Given the description of an element on the screen output the (x, y) to click on. 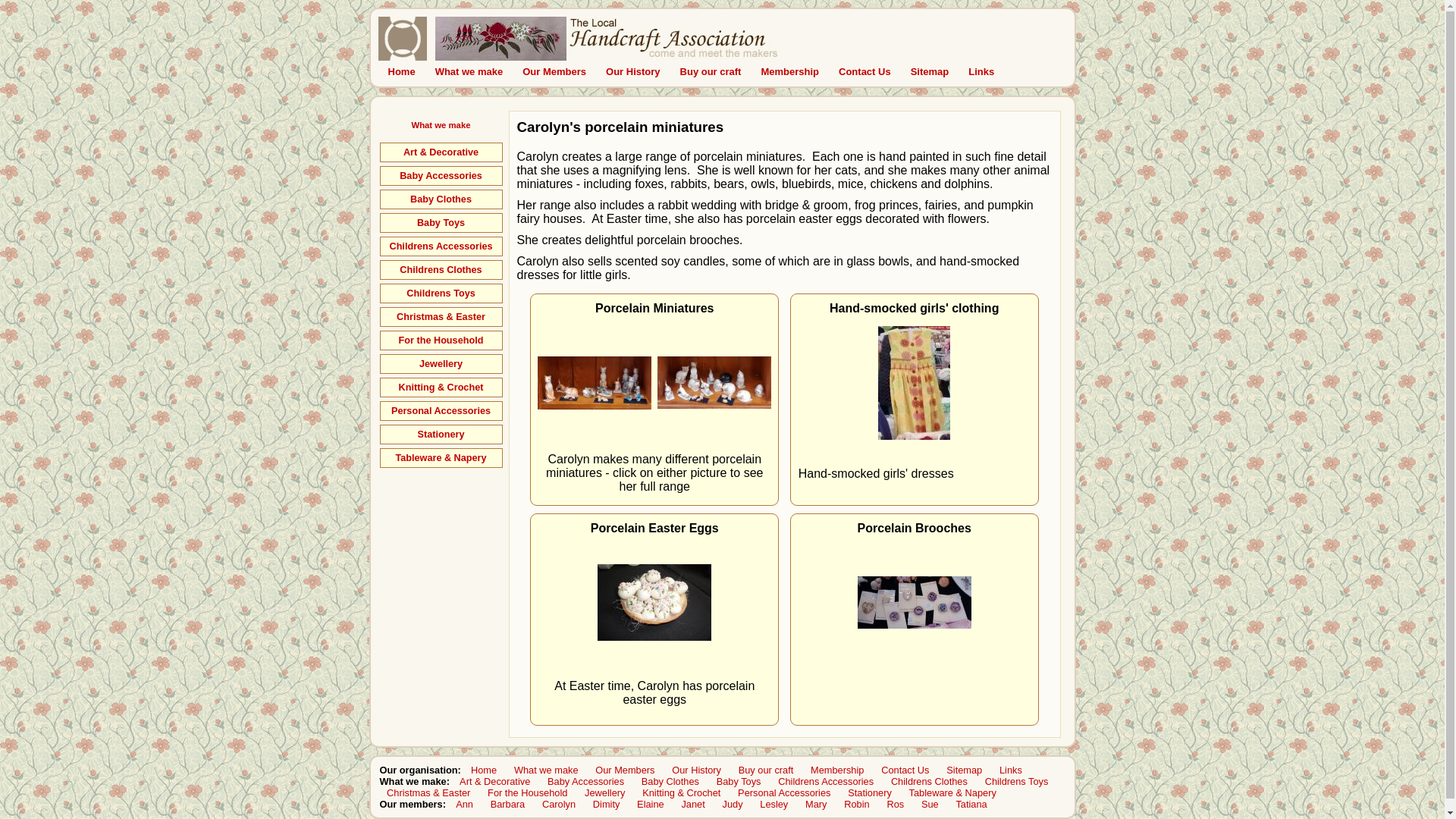
Jewellery Element type: text (605, 792)
Janet Element type: text (693, 803)
Tatiana Element type: text (971, 803)
Ann Element type: text (464, 803)
Childrens Toys Element type: text (440, 293)
Dimity Element type: text (606, 803)
For the Household Element type: text (527, 792)
Baby Clothes Element type: text (440, 199)
Sue Element type: text (929, 803)
Art & Decorative Element type: text (440, 152)
Membership Element type: text (837, 769)
Baby Toys Element type: text (440, 222)
Links Element type: text (981, 70)
What we make Element type: text (469, 70)
Our History Element type: text (696, 769)
Links Element type: text (1010, 769)
Home Element type: text (483, 769)
Sitemap Element type: text (964, 769)
Baby Toys Element type: text (738, 781)
Childrens Clothes Element type: text (928, 781)
Personal Accessories Element type: text (440, 410)
Knitting & Crochet Element type: text (440, 387)
Contact Us Element type: text (864, 70)
Childrens Toys Element type: text (1016, 781)
Home Element type: text (400, 70)
Ros Element type: text (895, 803)
Our Members Element type: text (554, 70)
Mary Element type: text (815, 803)
Baby Clothes Element type: text (669, 781)
What we make Element type: text (441, 124)
Baby Accessories Element type: text (440, 175)
Art & Decorative Element type: text (494, 781)
Membership Element type: text (789, 70)
Knitting & Crochet Element type: text (681, 792)
Christmas & Easter Element type: text (427, 792)
Childrens Accessories Element type: text (440, 246)
Tableware & Napery Element type: text (440, 457)
Christmas & Easter Element type: text (440, 316)
Buy our craft Element type: text (710, 70)
Stationery Element type: text (869, 792)
Childrens Accessories Element type: text (826, 781)
Porcelain Easter Eggs Element type: hover (654, 601)
Robin Element type: text (857, 803)
Tableware & Napery Element type: text (952, 792)
Lesley Element type: text (774, 803)
Jewellery Element type: text (440, 363)
For the Household Element type: text (440, 340)
Childrens Clothes Element type: text (440, 269)
Elaine Element type: text (650, 803)
Stationery Element type: text (440, 434)
Baby Accessories Element type: text (584, 781)
Carolyn Element type: text (558, 803)
Barbara Element type: text (507, 803)
Our History Element type: text (633, 70)
Judy Element type: text (732, 803)
Contact Us Element type: text (905, 769)
Buy our craft Element type: text (765, 769)
Sitemap Element type: text (929, 70)
What we make Element type: text (545, 769)
Our Members Element type: text (625, 769)
Personal Accessories Element type: text (784, 792)
